Given the description of an element on the screen output the (x, y) to click on. 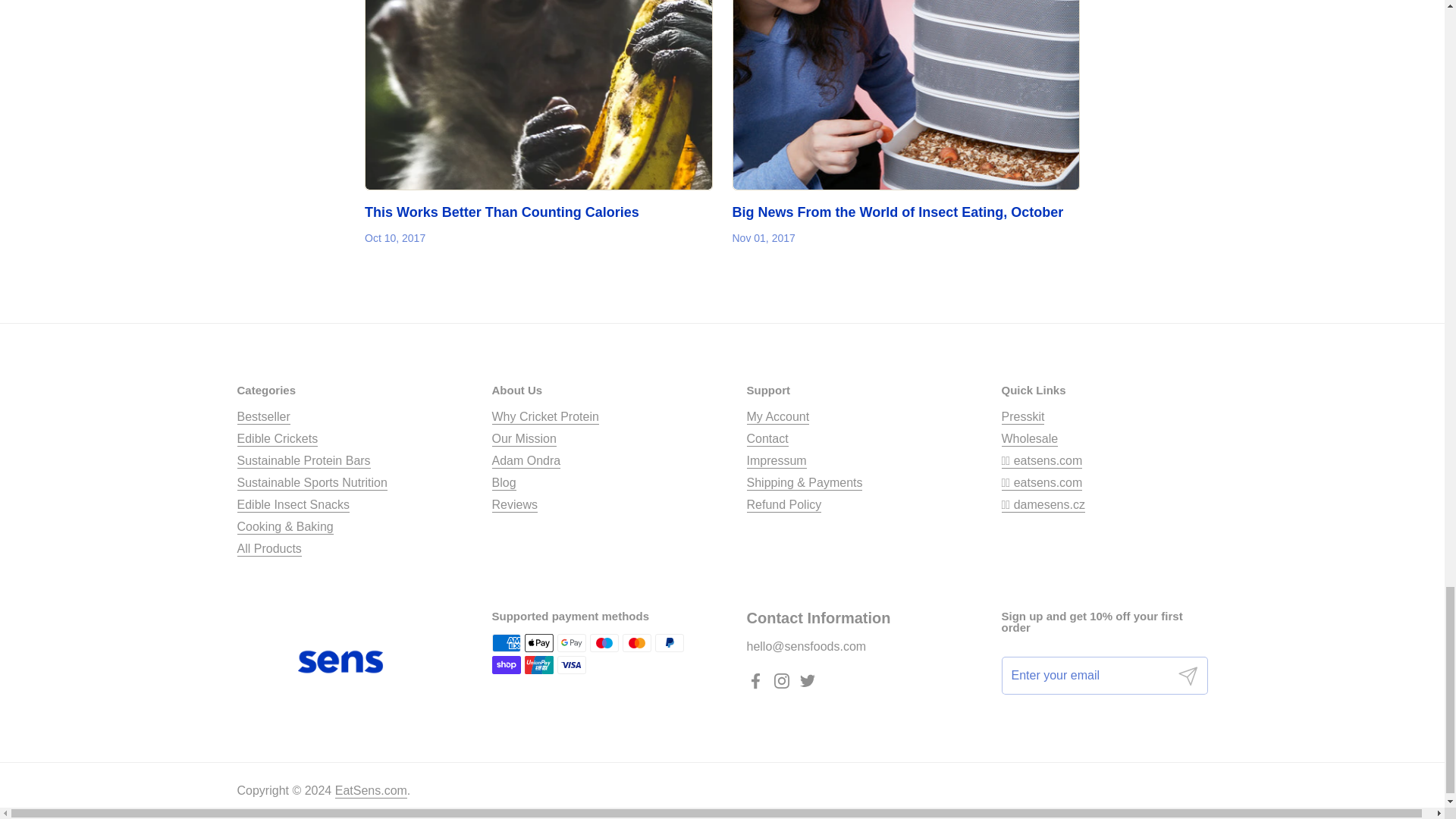
Big News From the World of Insect Eating, October (898, 212)
This Works Better Than Counting Calories (539, 95)
Big News From the World of Insect Eating, October (906, 95)
This Works Better Than Counting Calories (502, 212)
